Given the description of an element on the screen output the (x, y) to click on. 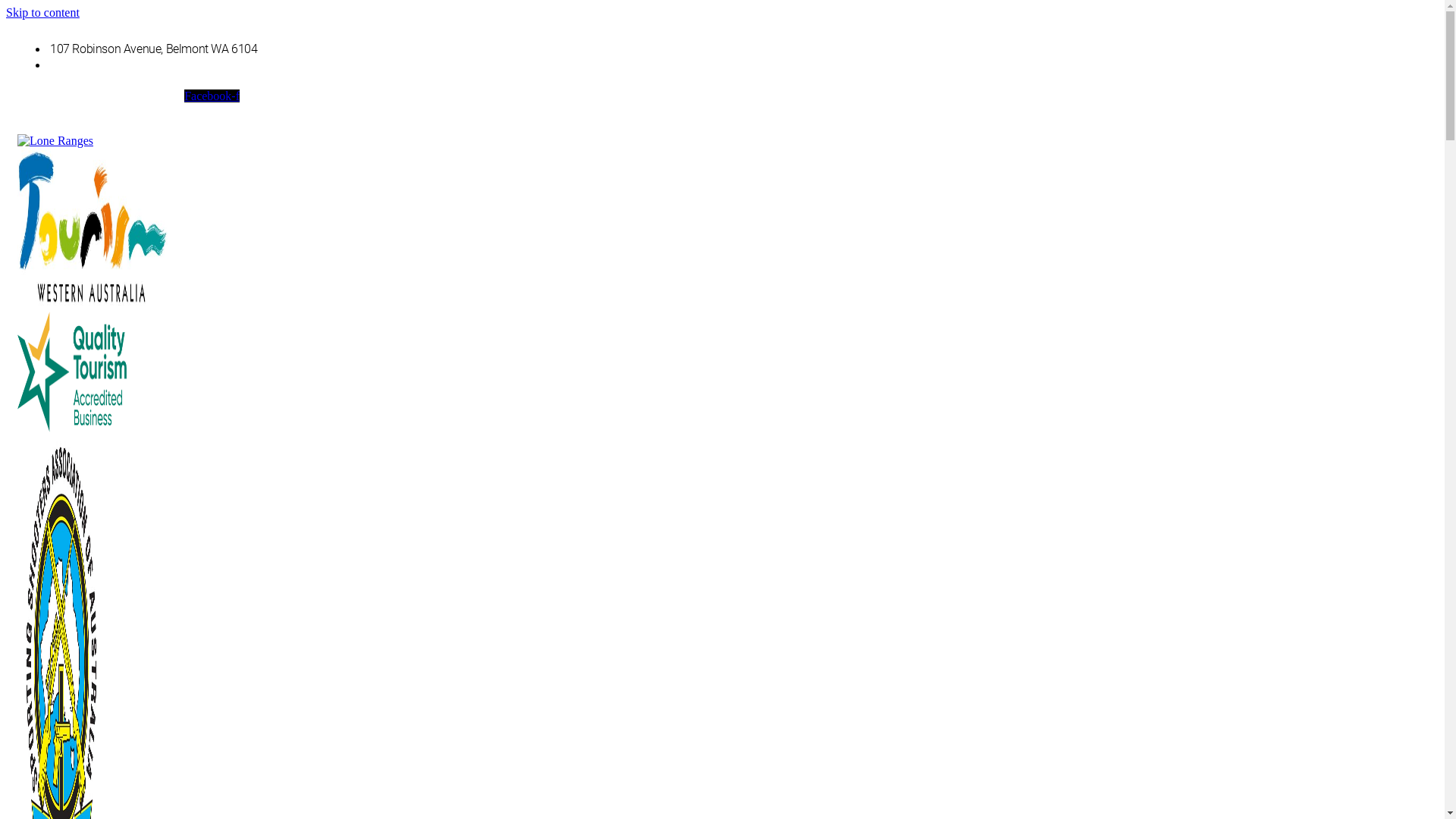
(08) 9277 9200 Element type: text (88, 64)
Skip to content Element type: text (42, 12)
Facebook-f Element type: text (211, 95)
